Given the description of an element on the screen output the (x, y) to click on. 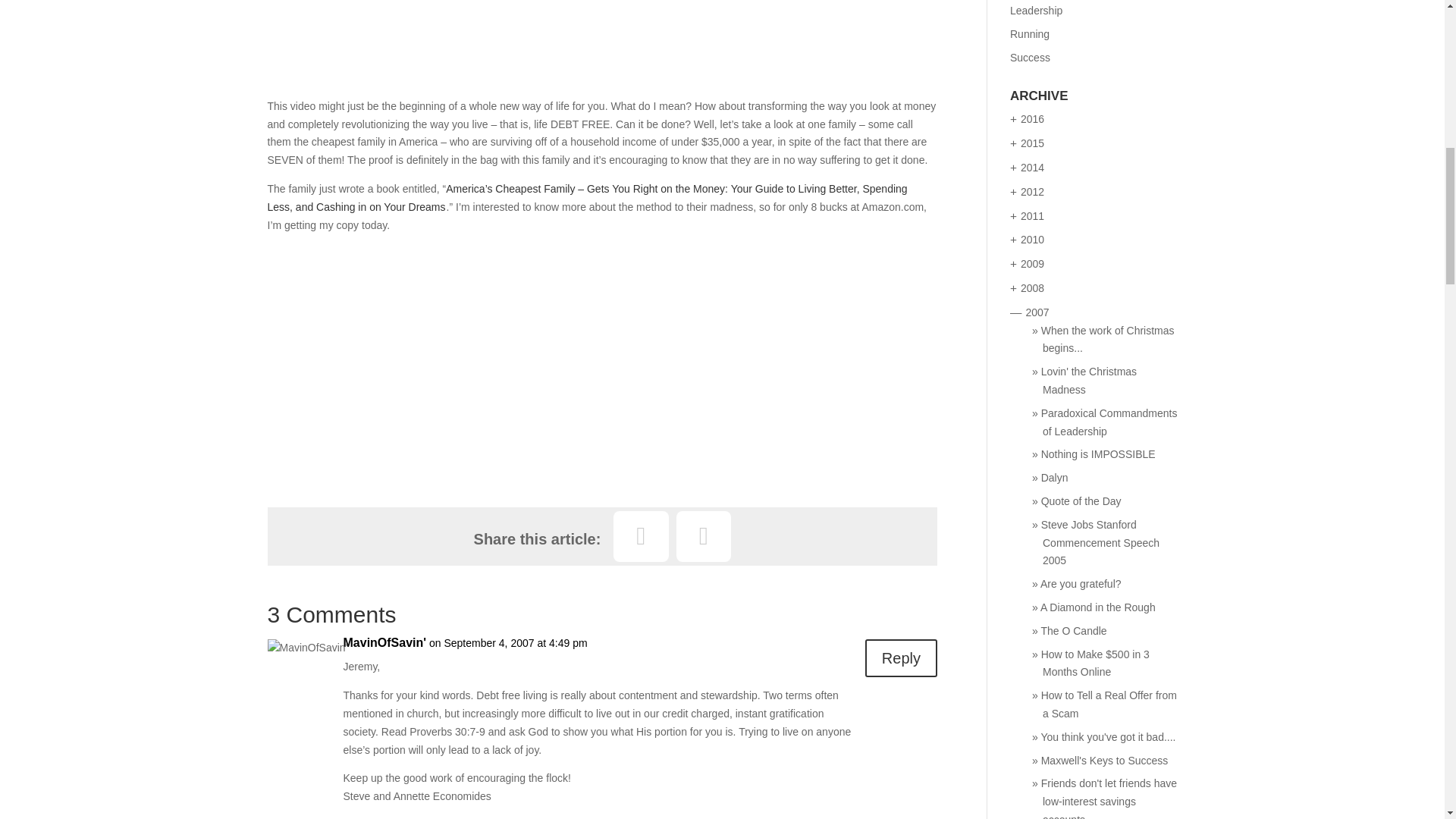
View all posts filed under 2009 (1031, 263)
View all posts filed under 2012 (1031, 191)
Leadership (1036, 10)
View all posts filed under 2015 (1031, 143)
Running (1029, 33)
View all posts filed under 2014 (1031, 167)
MavinOfSavin' (384, 642)
Facebook (640, 536)
View all posts filed under 2011 (1031, 215)
View all posts filed under 2010 (1031, 239)
